Given the description of an element on the screen output the (x, y) to click on. 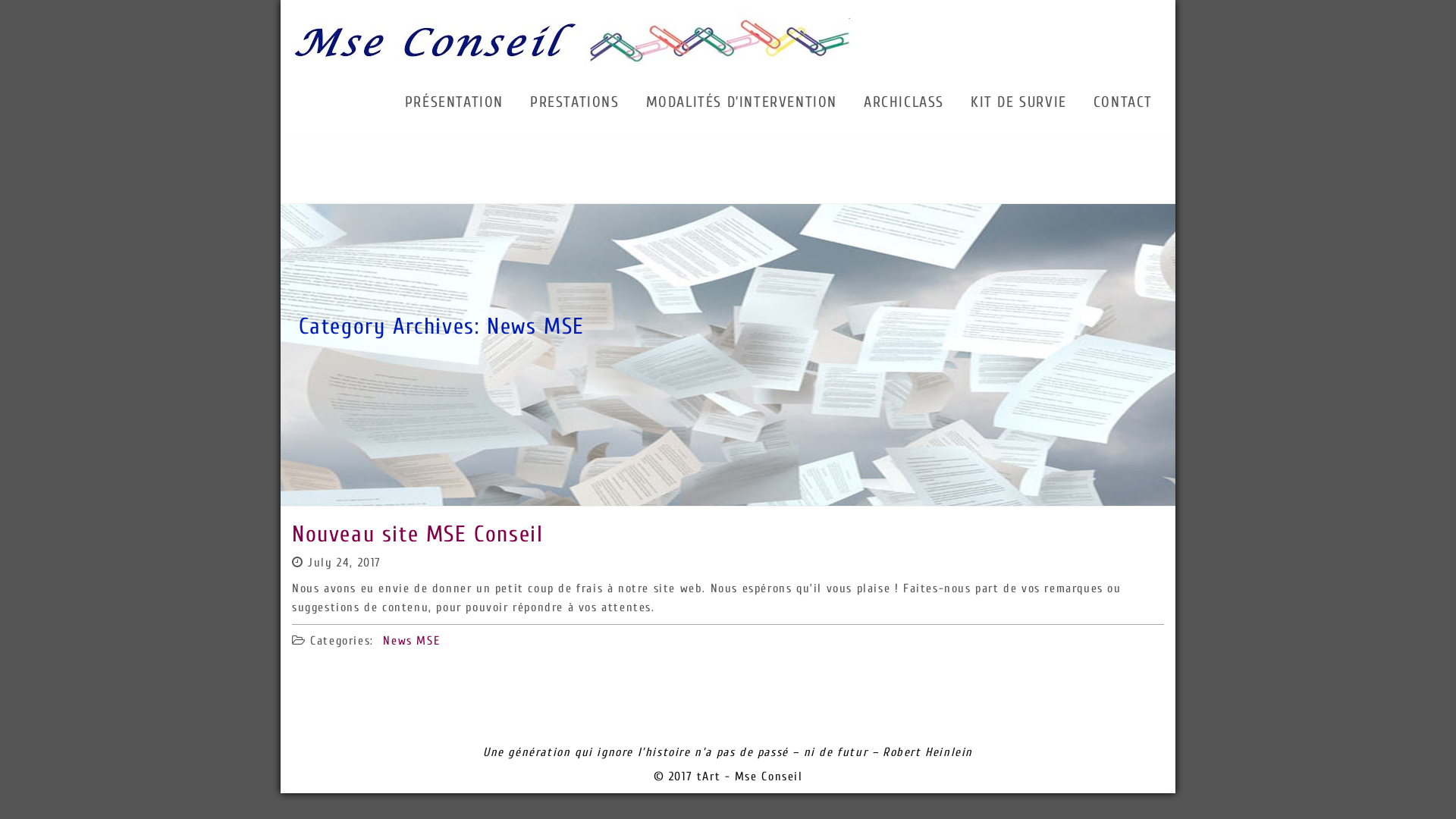
CONTACT Element type: text (1123, 99)
KIT DE SURVIE Element type: text (1018, 99)
PRESTATIONS Element type: text (574, 99)
Nouveau site MSE Conseil Element type: text (416, 533)
ARCHICLASS Element type: text (903, 99)
News MSE Element type: text (410, 640)
